Given the description of an element on the screen output the (x, y) to click on. 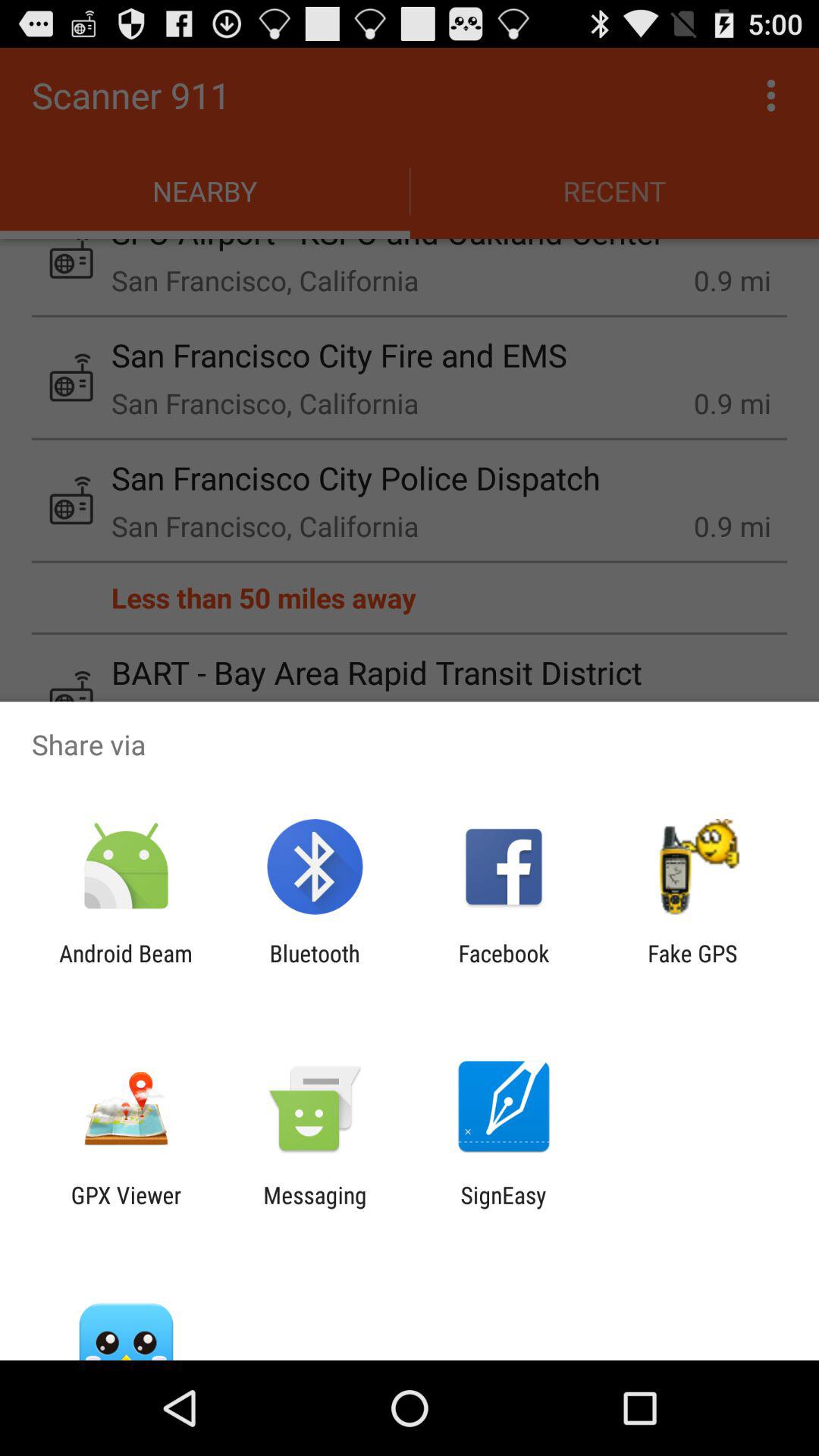
turn off the android beam icon (125, 966)
